Given the description of an element on the screen output the (x, y) to click on. 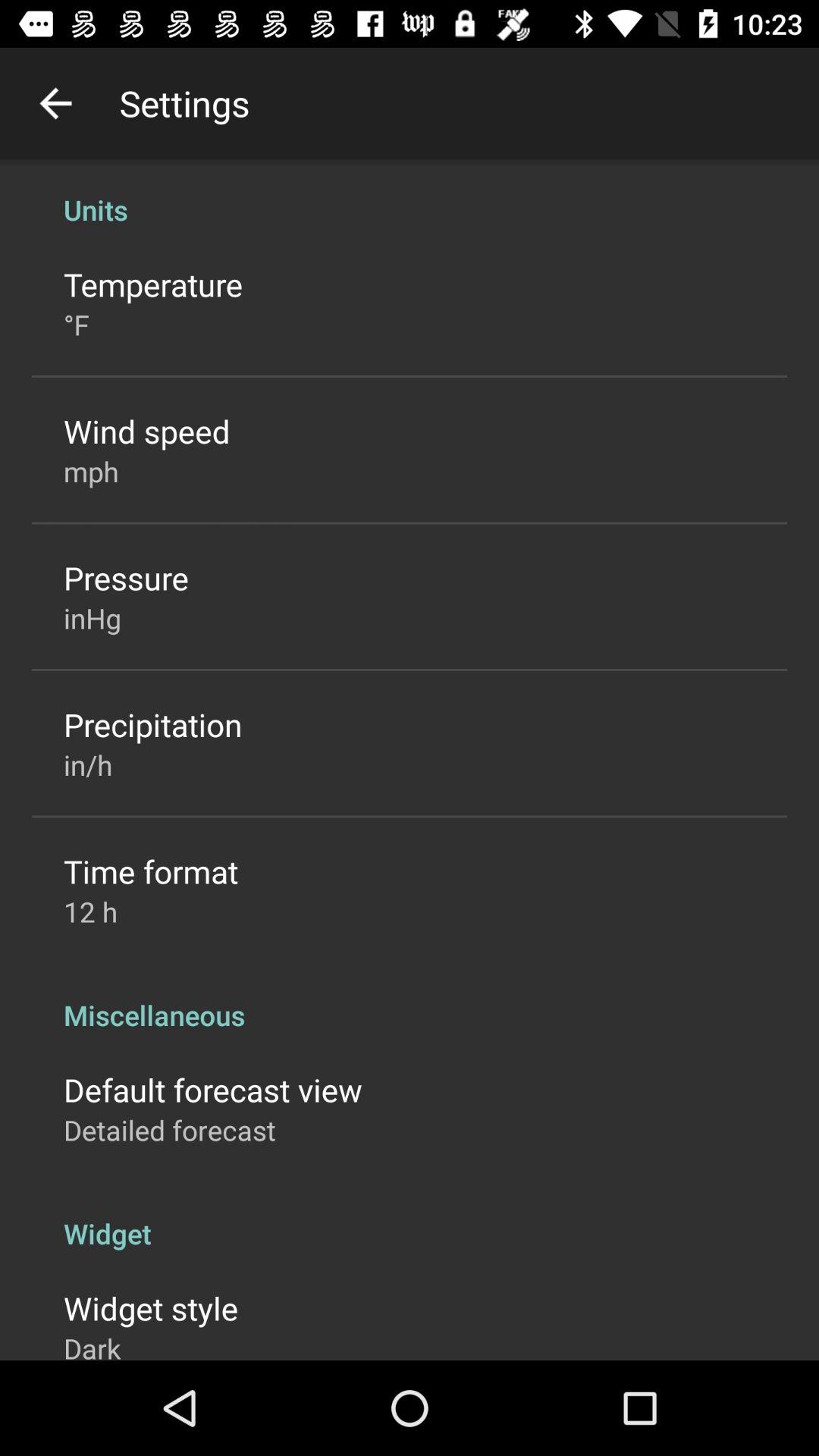
select item above default forecast view item (409, 998)
